Given the description of an element on the screen output the (x, y) to click on. 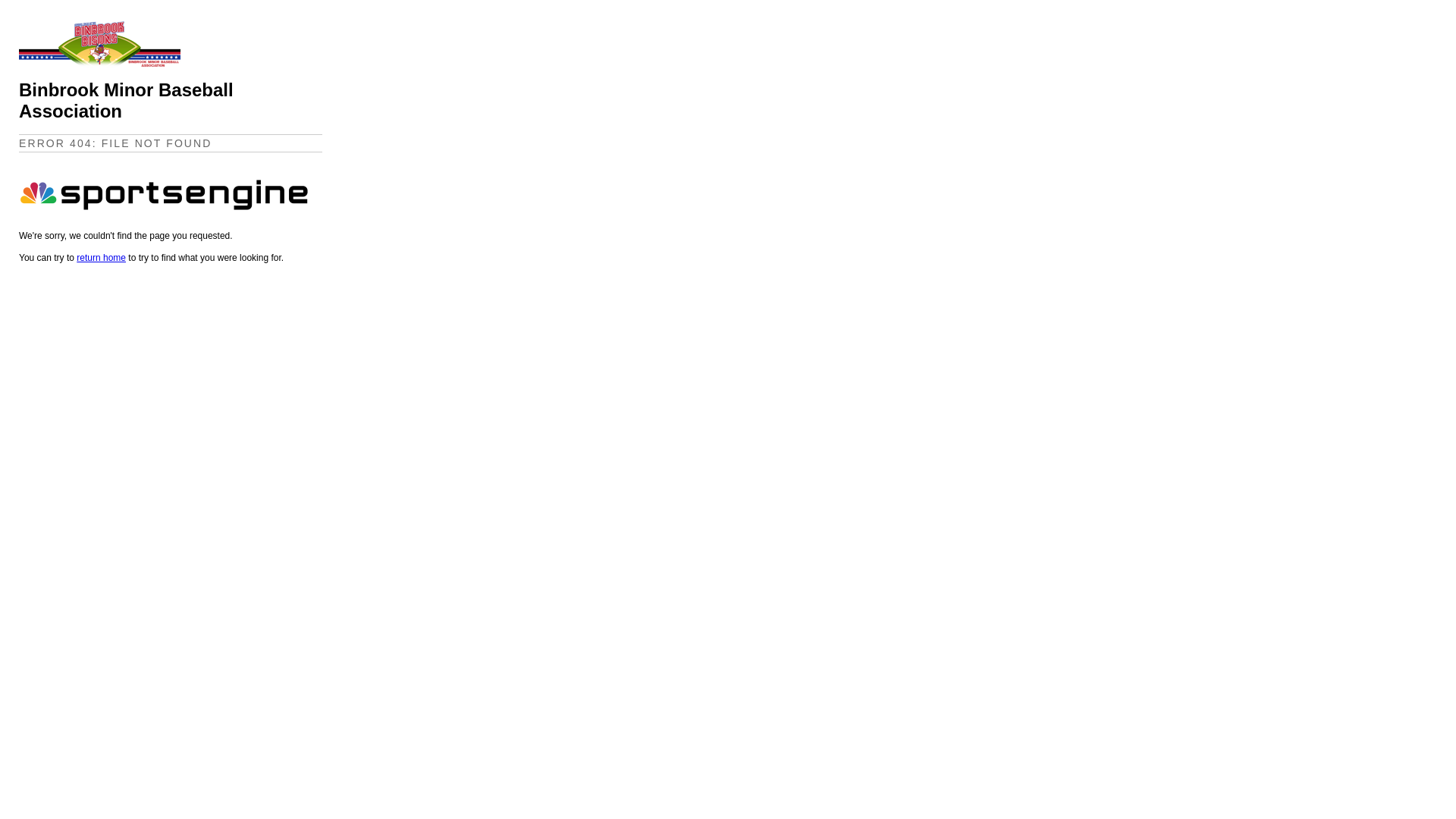
Binbrook Minor Baseball Association Homepage Element type: hover (99, 64)
return home Element type: text (100, 257)
